Given the description of an element on the screen output the (x, y) to click on. 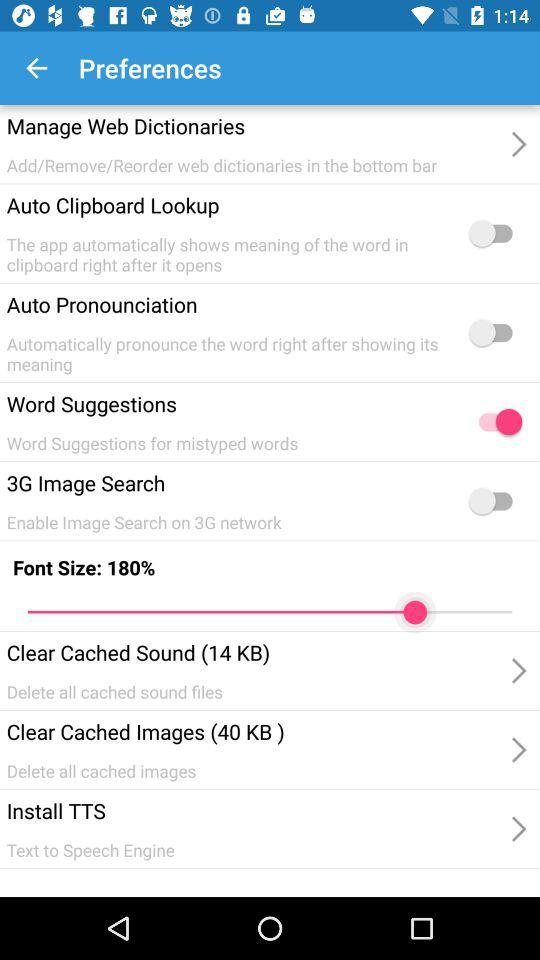
toggle word suggestions on (495, 421)
